Given the description of an element on the screen output the (x, y) to click on. 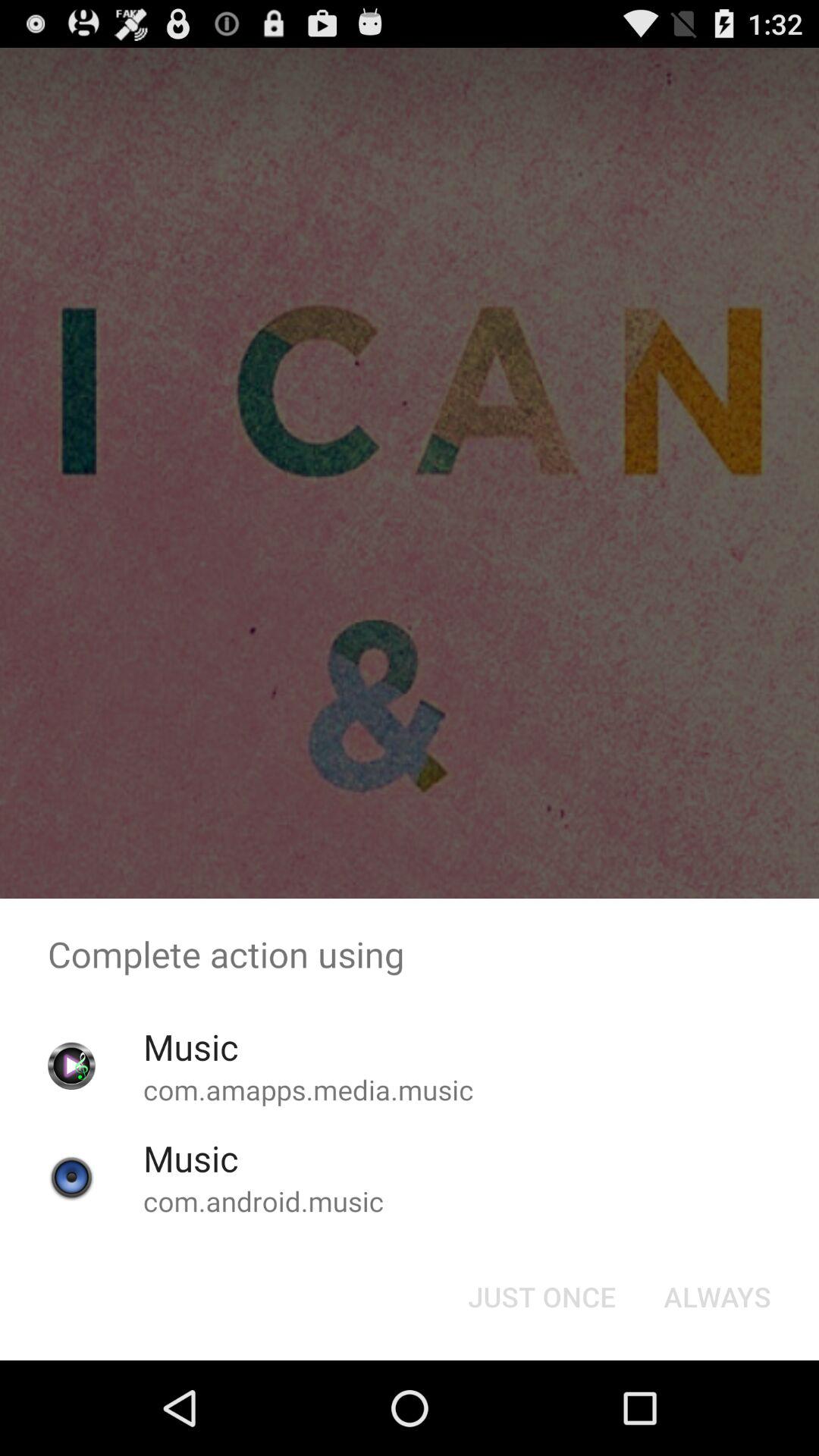
tap app below the complete action using app (717, 1296)
